Given the description of an element on the screen output the (x, y) to click on. 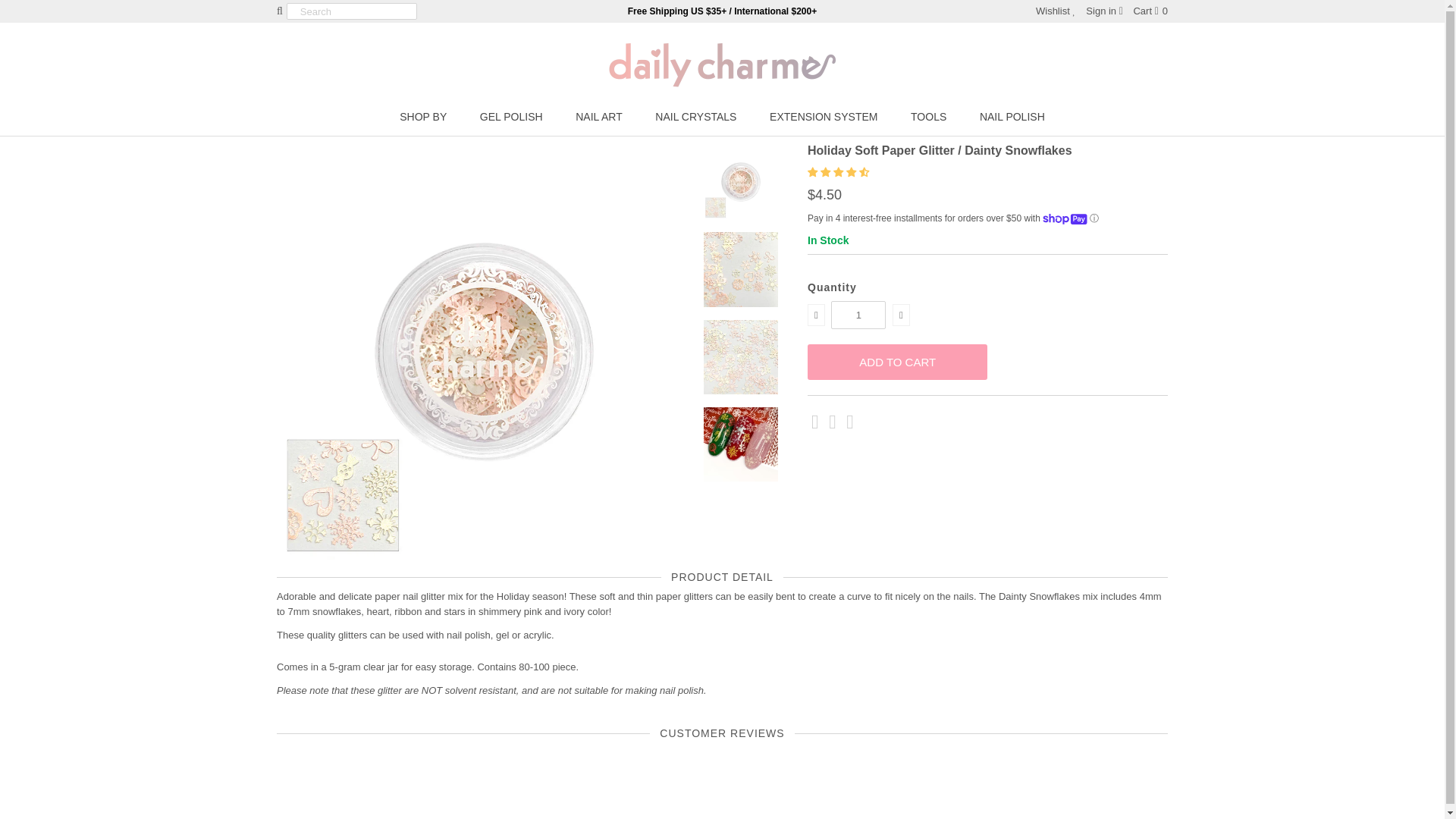
Sign in (1104, 10)
Add to Cart (897, 361)
1 (858, 315)
Cart 0 (1149, 10)
Wishlist (1055, 10)
